Given the description of an element on the screen output the (x, y) to click on. 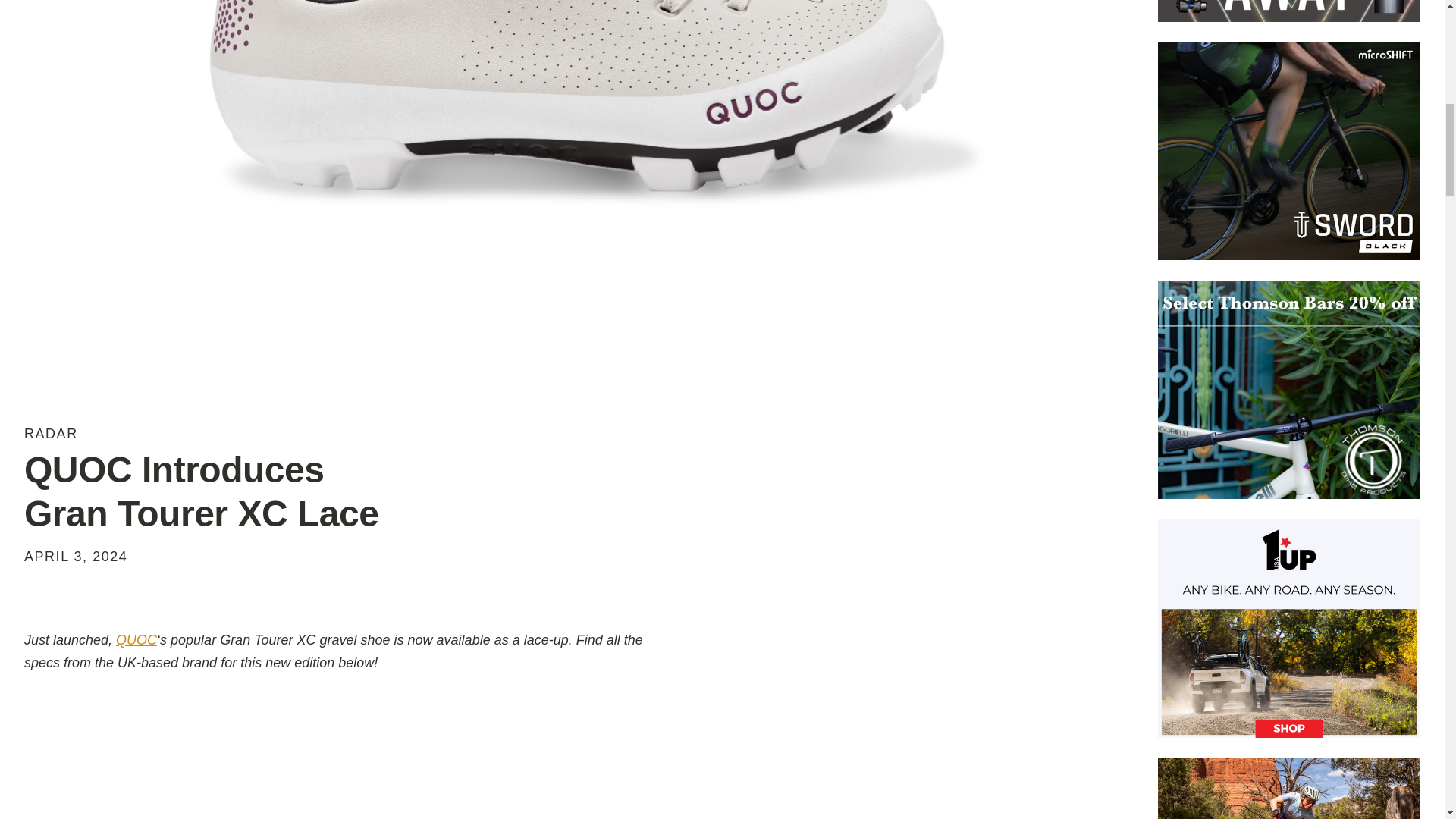
1Up (1289, 627)
MicroShift (1289, 150)
Industry Nine (1289, 788)
Janus Cycle Group (1289, 10)
Thomson (1289, 389)
